Given the description of an element on the screen output the (x, y) to click on. 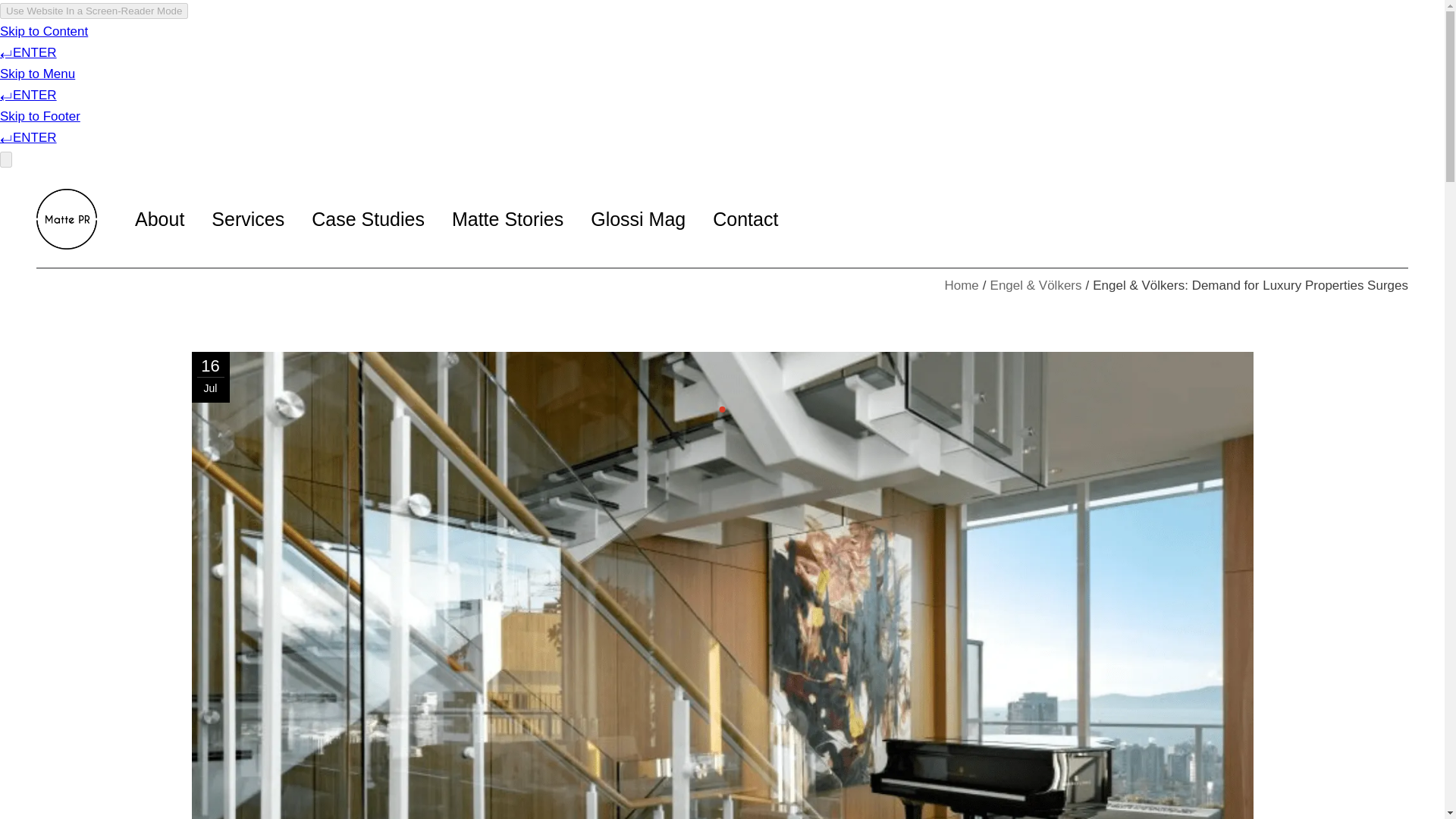
Home (960, 285)
Matte Stories (507, 218)
Case Studies (368, 218)
Glossi Mag (638, 218)
